Given the description of an element on the screen output the (x, y) to click on. 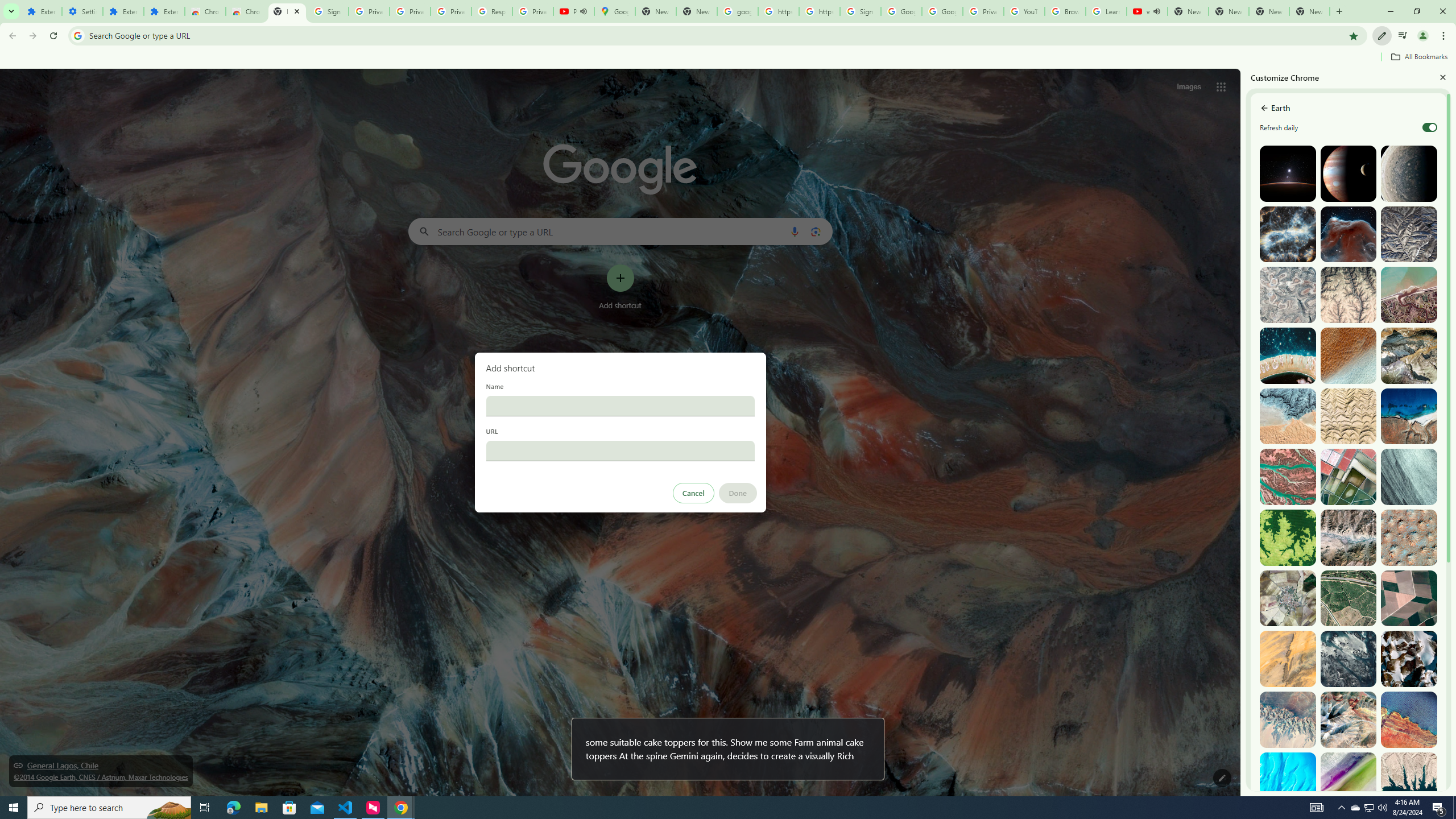
Qesm Al Wahat Ad Dakhlah, Egypt (1287, 719)
https://scholar.google.com/ (777, 11)
URL (620, 450)
New Tab (287, 11)
Refresh daily (1429, 126)
Ngari, China (1348, 719)
Done (737, 493)
Customize Chrome (1382, 35)
Al Jabal al Akhdar, Libya (1408, 416)
Zermatt, Wallis, Switzerland (1408, 355)
